Given the description of an element on the screen output the (x, y) to click on. 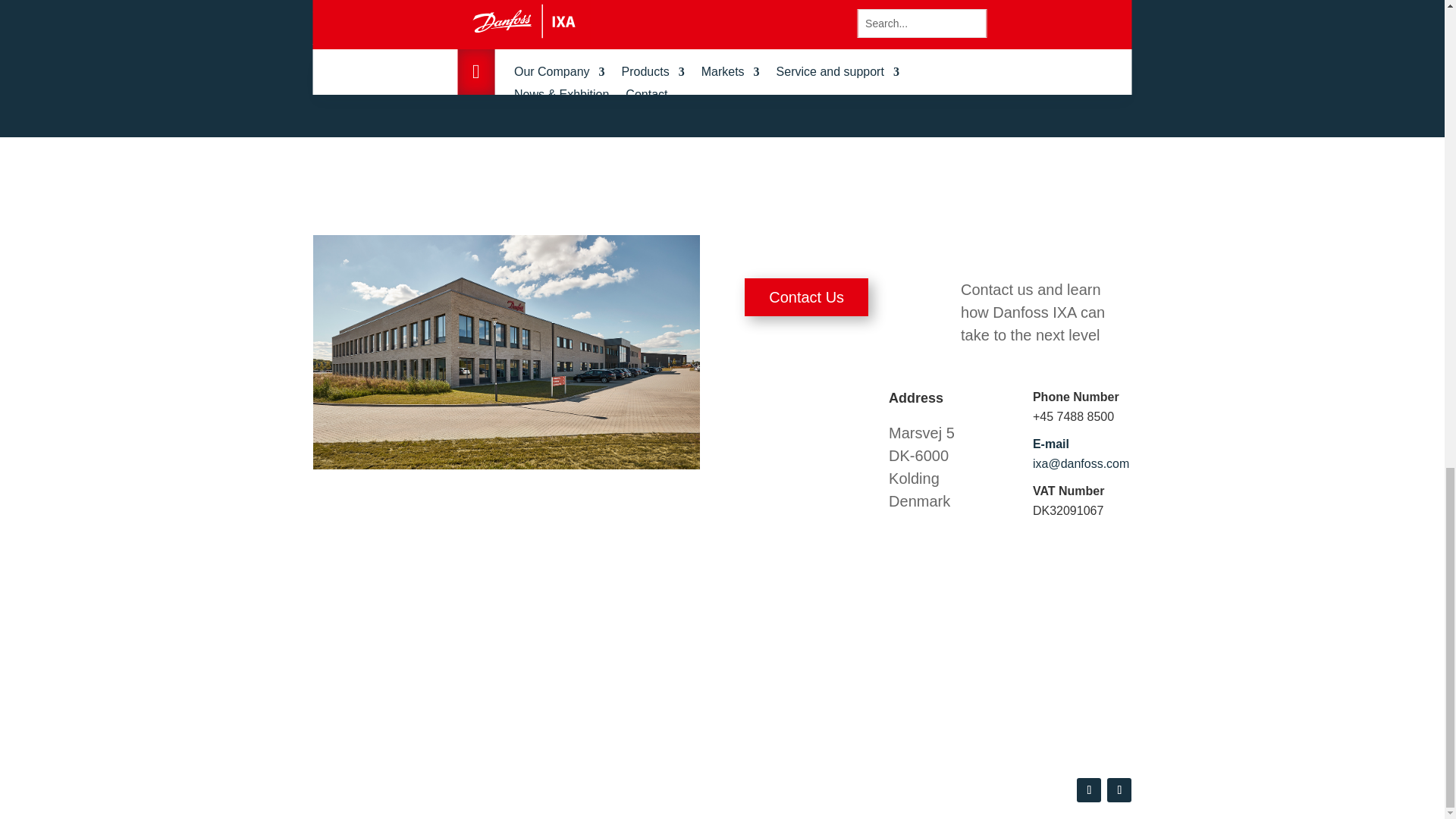
Follow on LinkedIn (1118, 790)
Follow on Youtube (1088, 790)
